Given the description of an element on the screen output the (x, y) to click on. 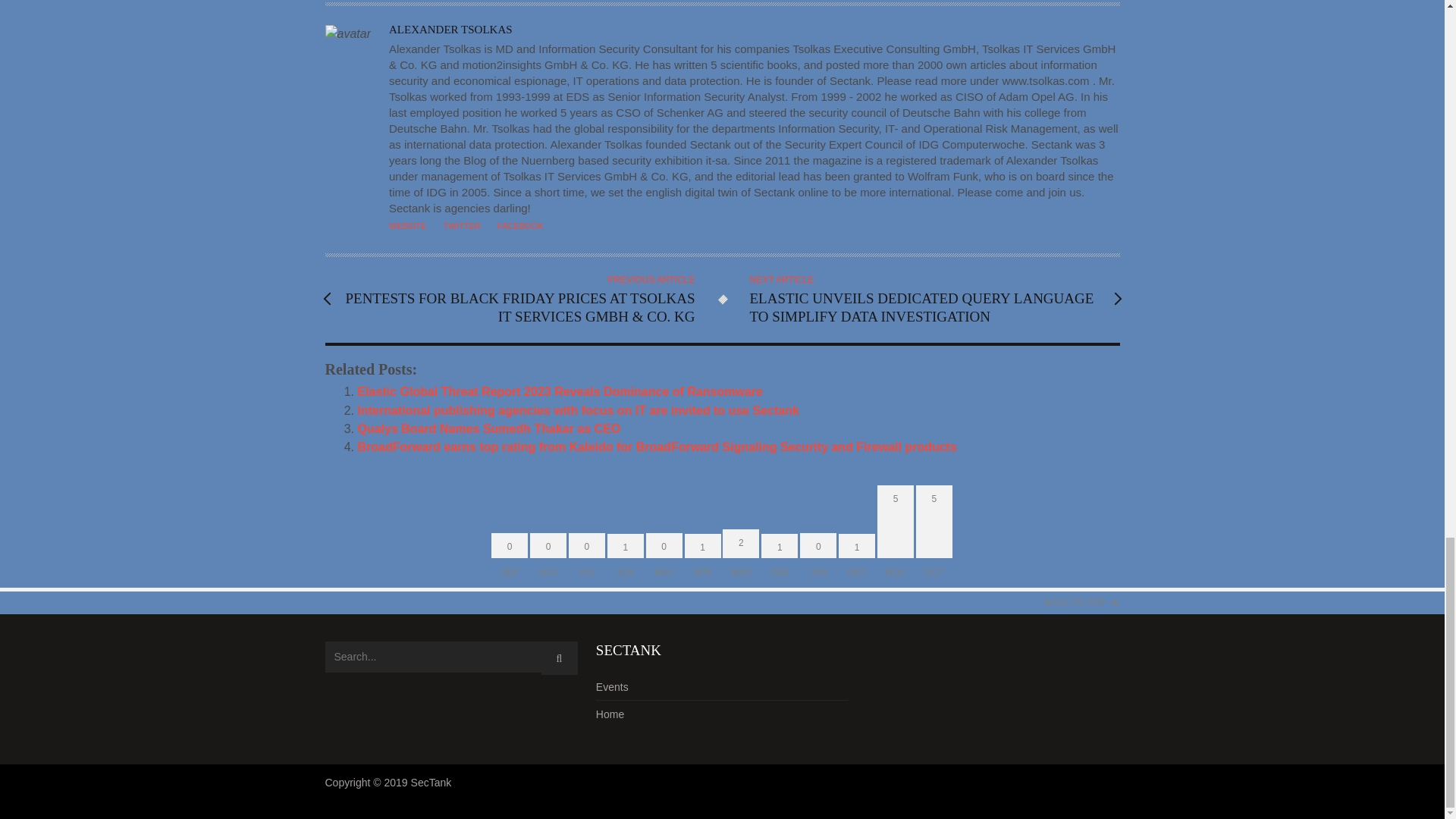
Posts by Alexander Tsolkas (450, 29)
Qualys Board Names Sumedh Thakar as CEO (489, 428)
